Given the description of an element on the screen output the (x, y) to click on. 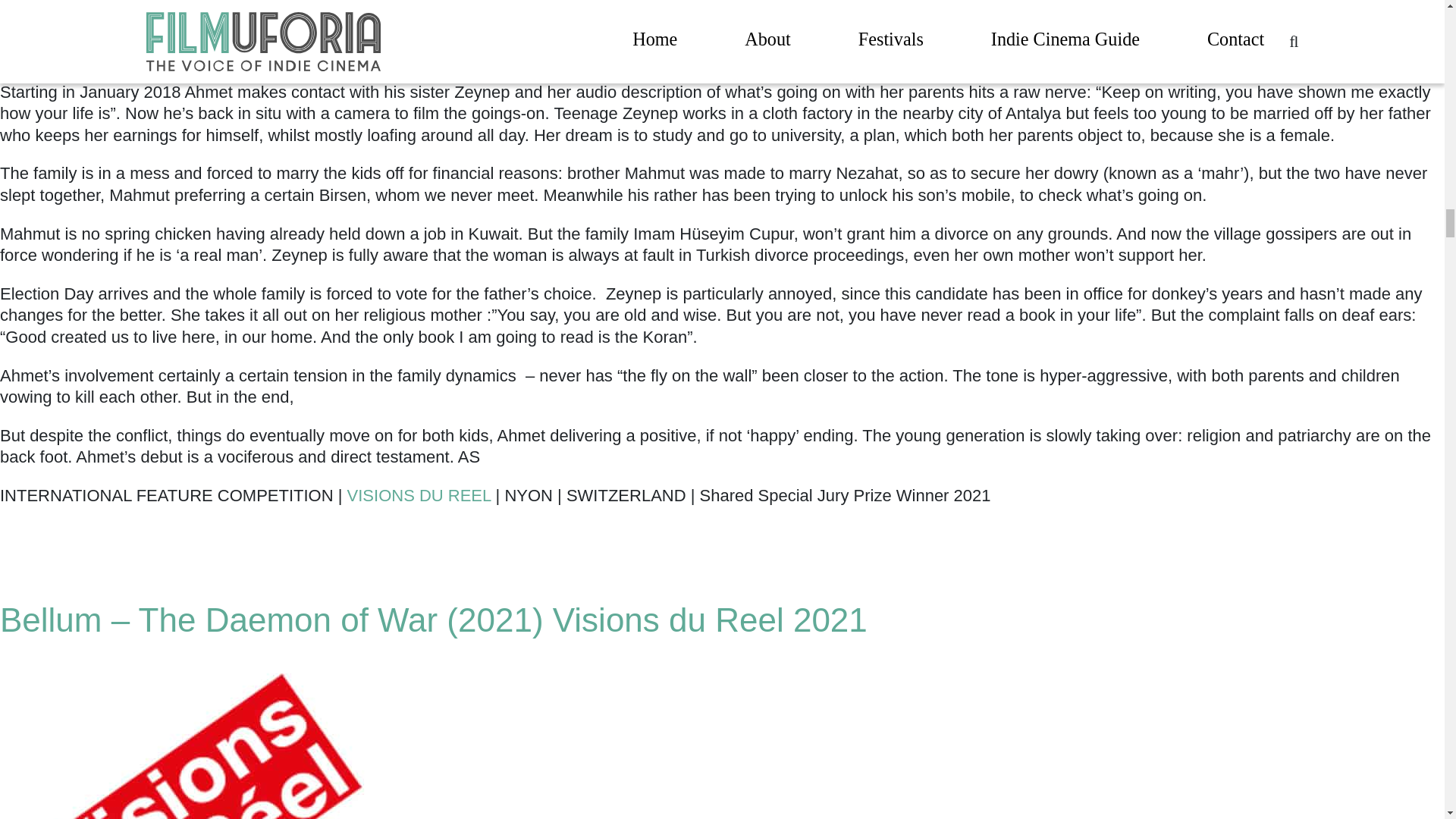
VISIONS DU REEL (419, 495)
